Given the description of an element on the screen output the (x, y) to click on. 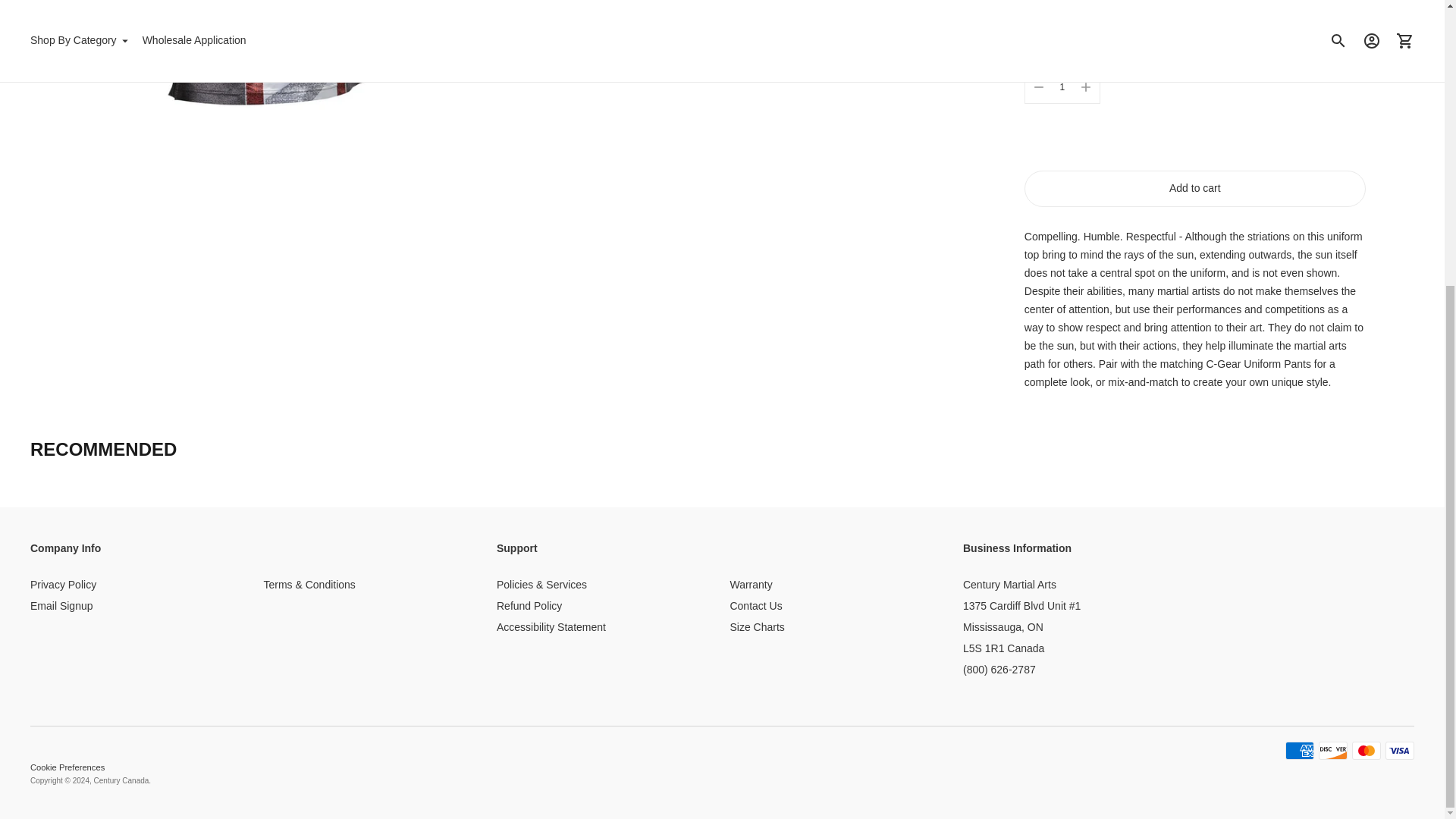
Increase (1085, 87)
Open Image (255, 67)
1 (1061, 87)
Decrease (1038, 87)
